Given the description of an element on the screen output the (x, y) to click on. 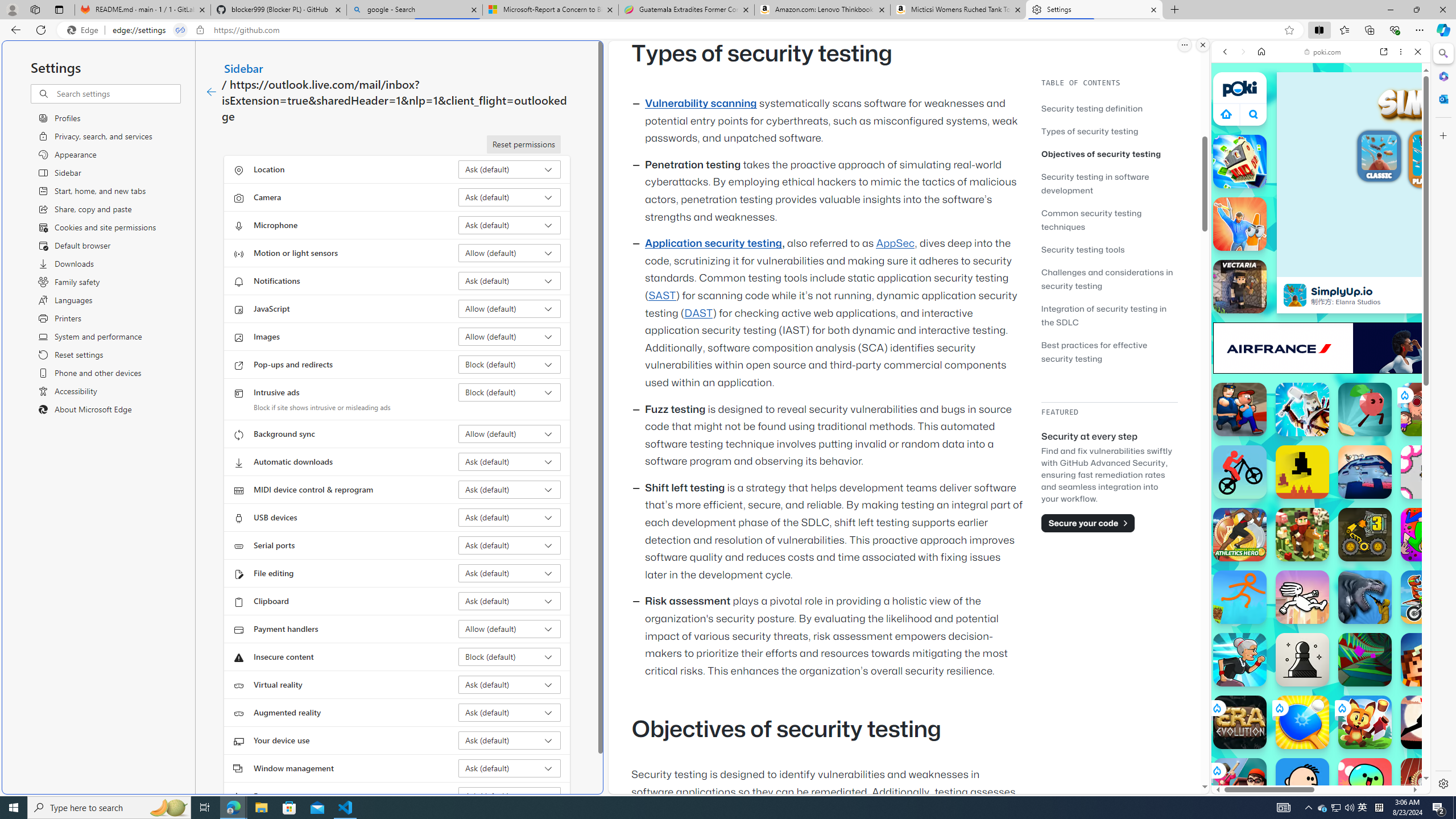
Classic Chess Classic Chess (1302, 659)
Objectives of security testing (1101, 153)
Clipboard Ask (default) (509, 601)
Car Games (1320, 267)
Show More Two Player Games (1390, 323)
Class: c01182 (210, 91)
Stickman Parkour Skyland Stickman Parkour Skyland (1239, 597)
Class: hvLtMSipvVng82x9Seuh (1294, 295)
Narrow.One (1302, 409)
PLAYGROUND (1433, 160)
Shooting Games (1320, 295)
